Given the description of an element on the screen output the (x, y) to click on. 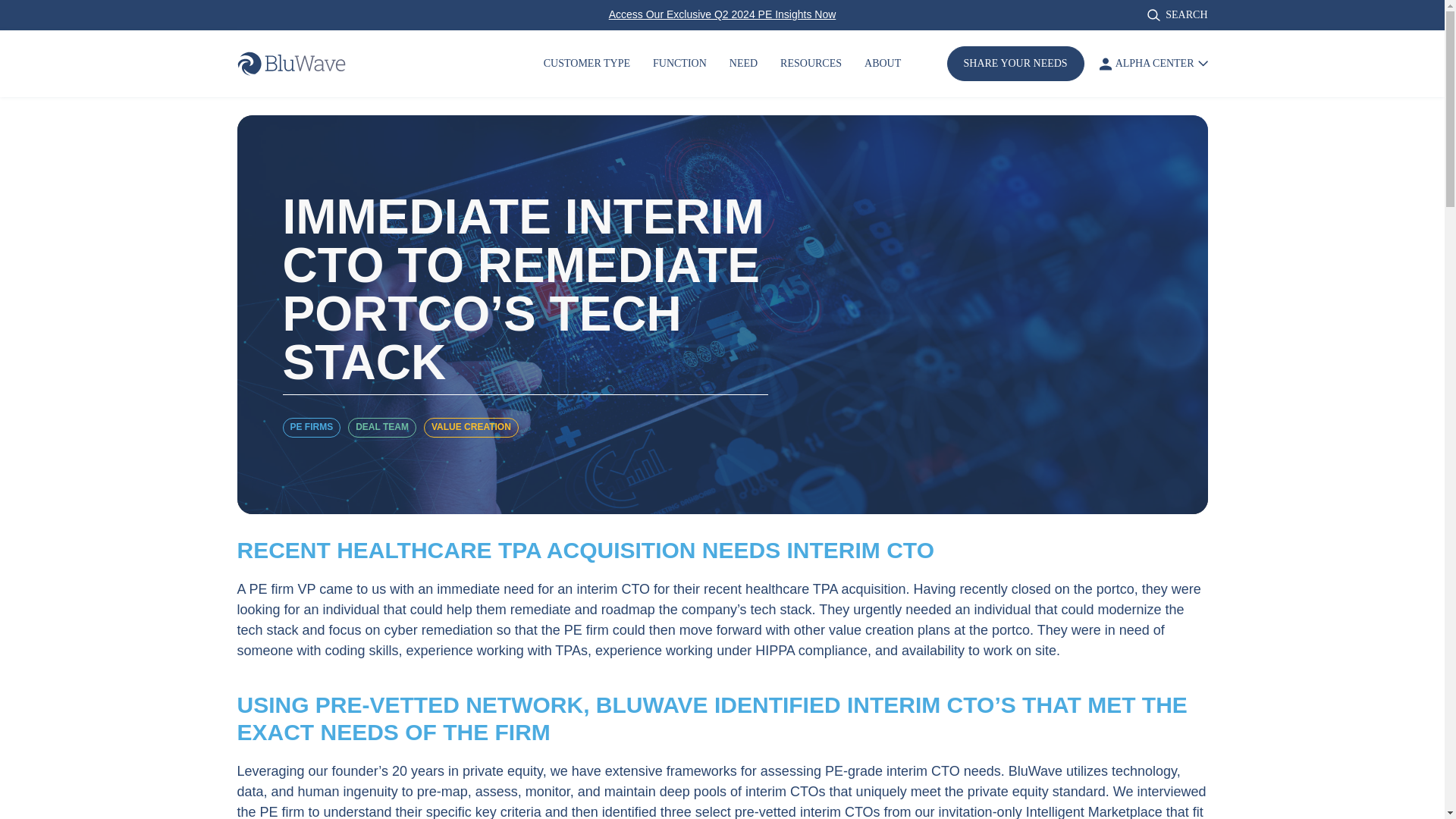
CUSTOMER TYPE (586, 63)
Access Our Exclusive Q2 2024 PE Insights Now (721, 14)
RESOURCES (810, 63)
